Given the description of an element on the screen output the (x, y) to click on. 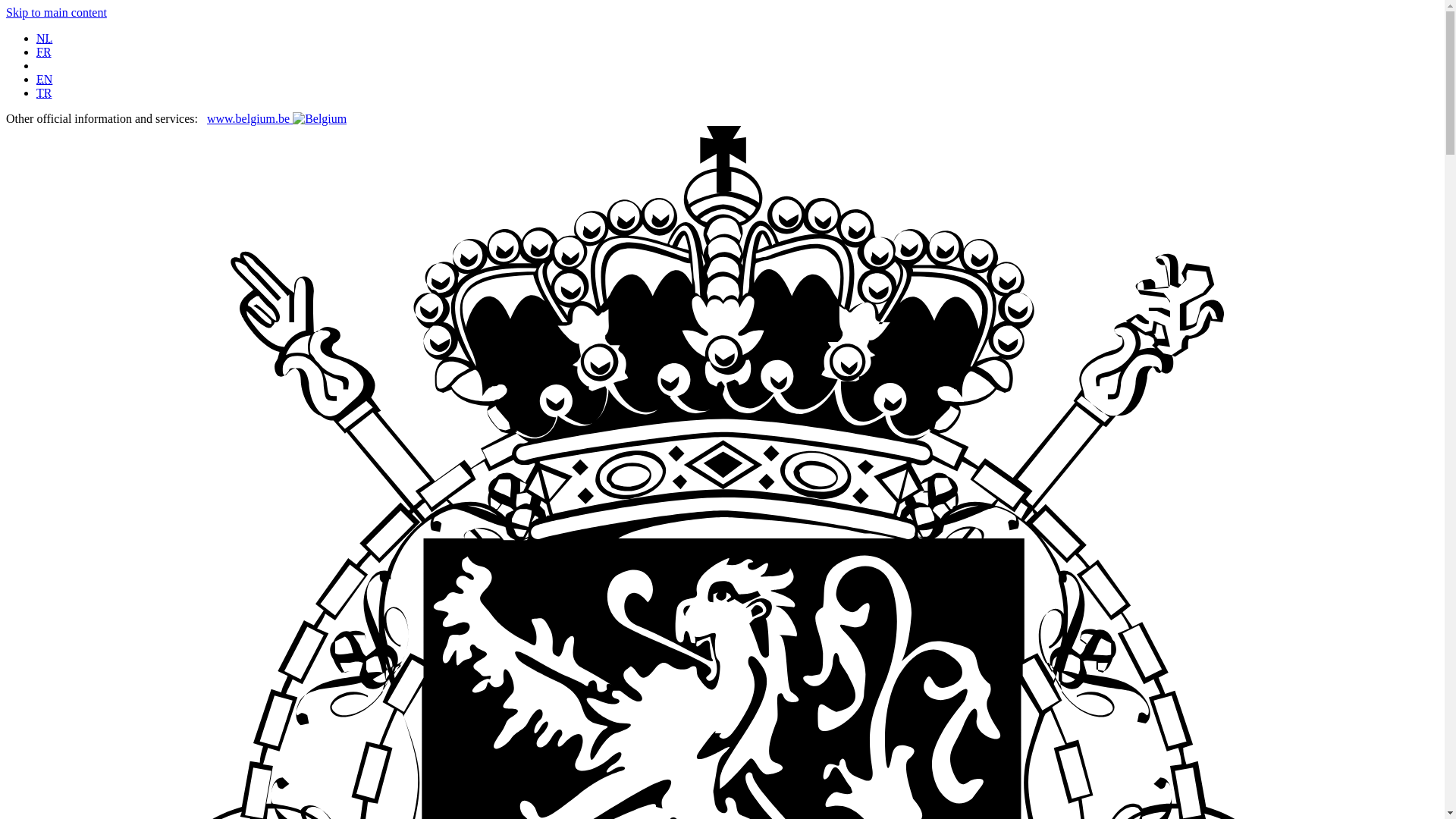
Nederlands (44, 38)
English (44, 78)
EN (44, 78)
Turkish (43, 92)
FR (43, 51)
www.belgium.be (276, 118)
Skip to main content (55, 11)
NL (44, 38)
TR (43, 92)
